Given the description of an element on the screen output the (x, y) to click on. 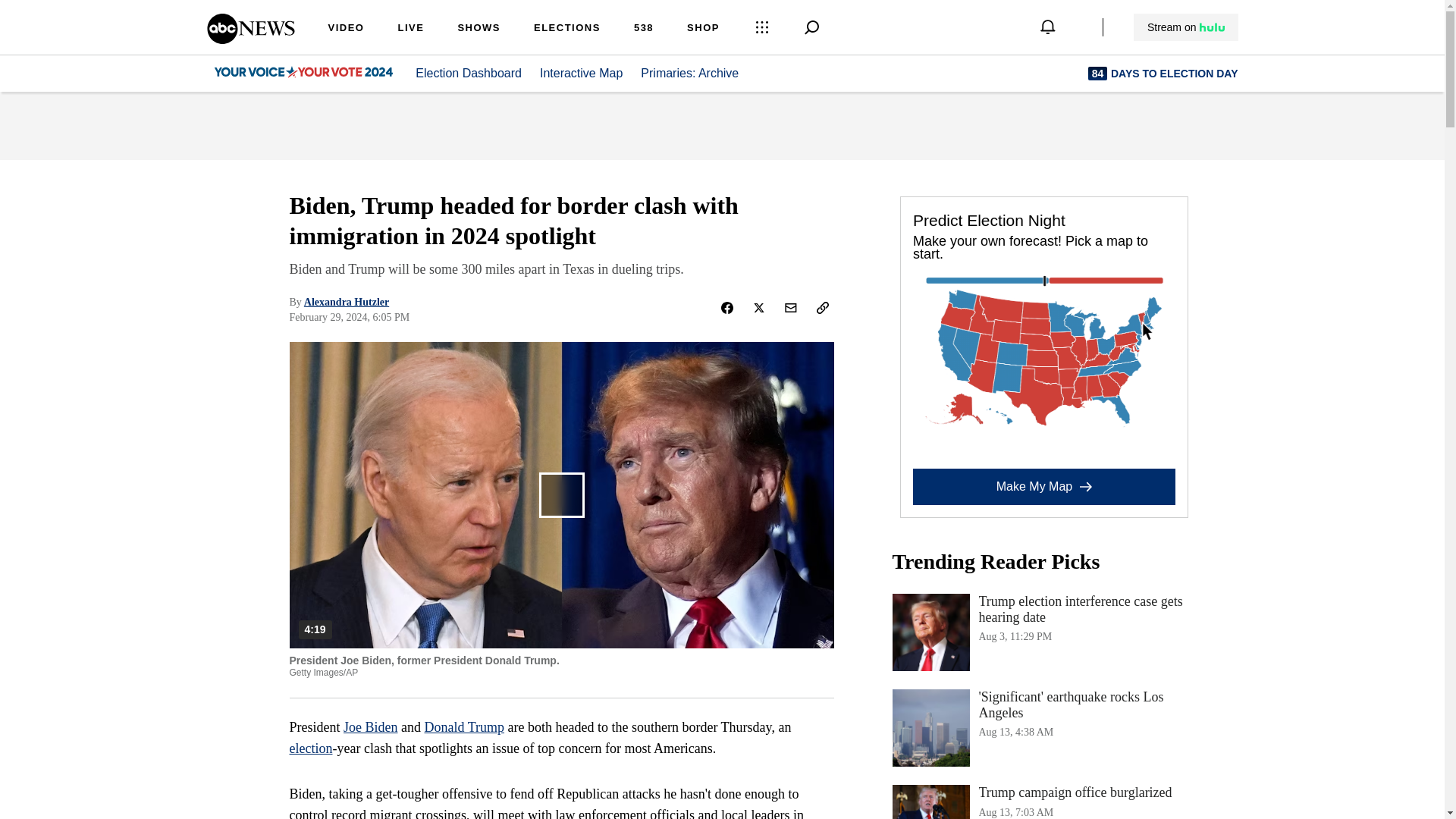
Stream on (1185, 27)
ABC News (250, 38)
election (1043, 801)
Primaries: Archive (311, 748)
Joe Biden (698, 73)
SHOWS (370, 726)
LIVE (478, 28)
Election Dashboard (410, 28)
SHOP (467, 73)
